Given the description of an element on the screen output the (x, y) to click on. 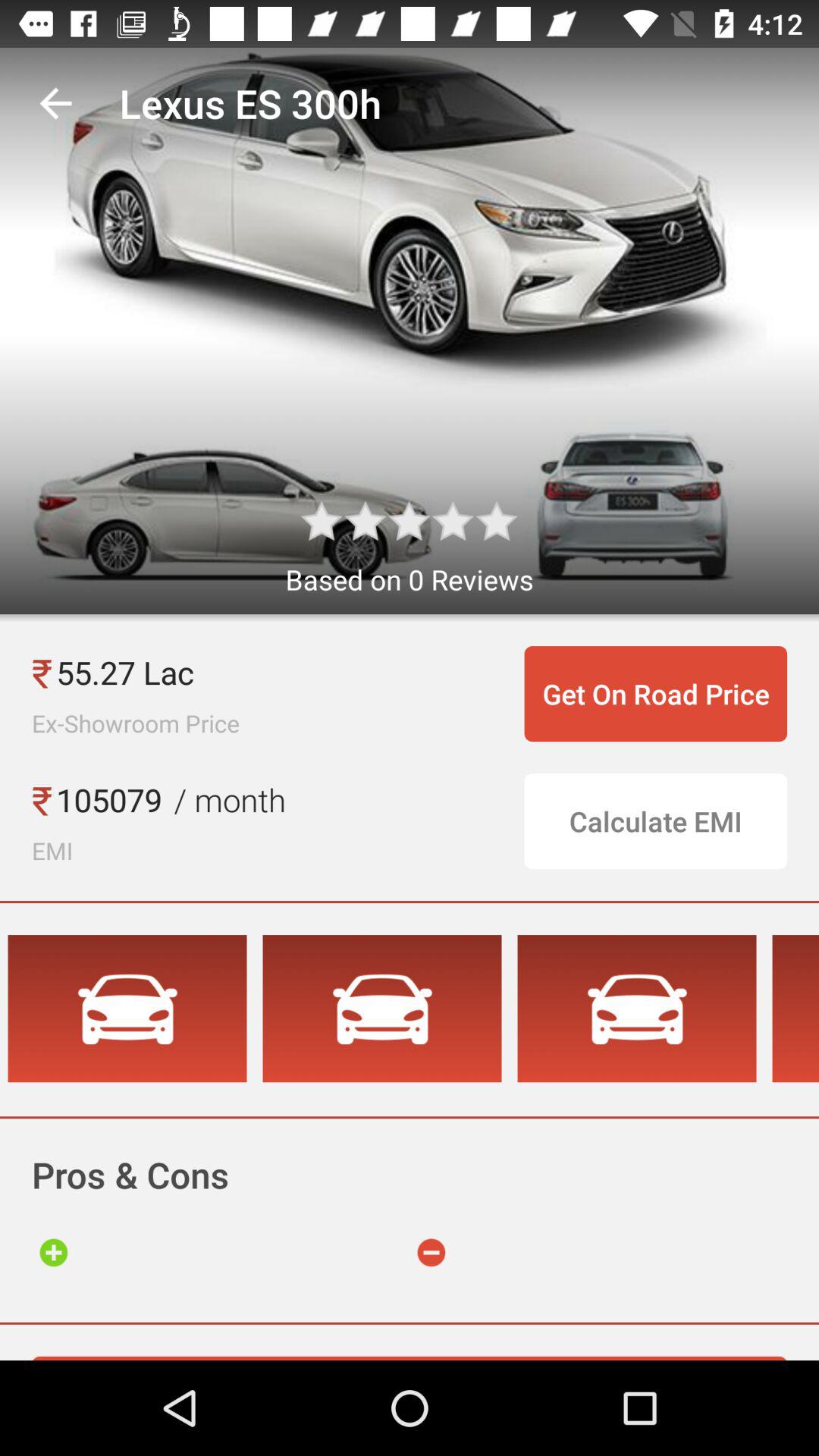
go to  (53, 1252)
go to calculate emi (655, 821)
